Given the description of an element on the screen output the (x, y) to click on. 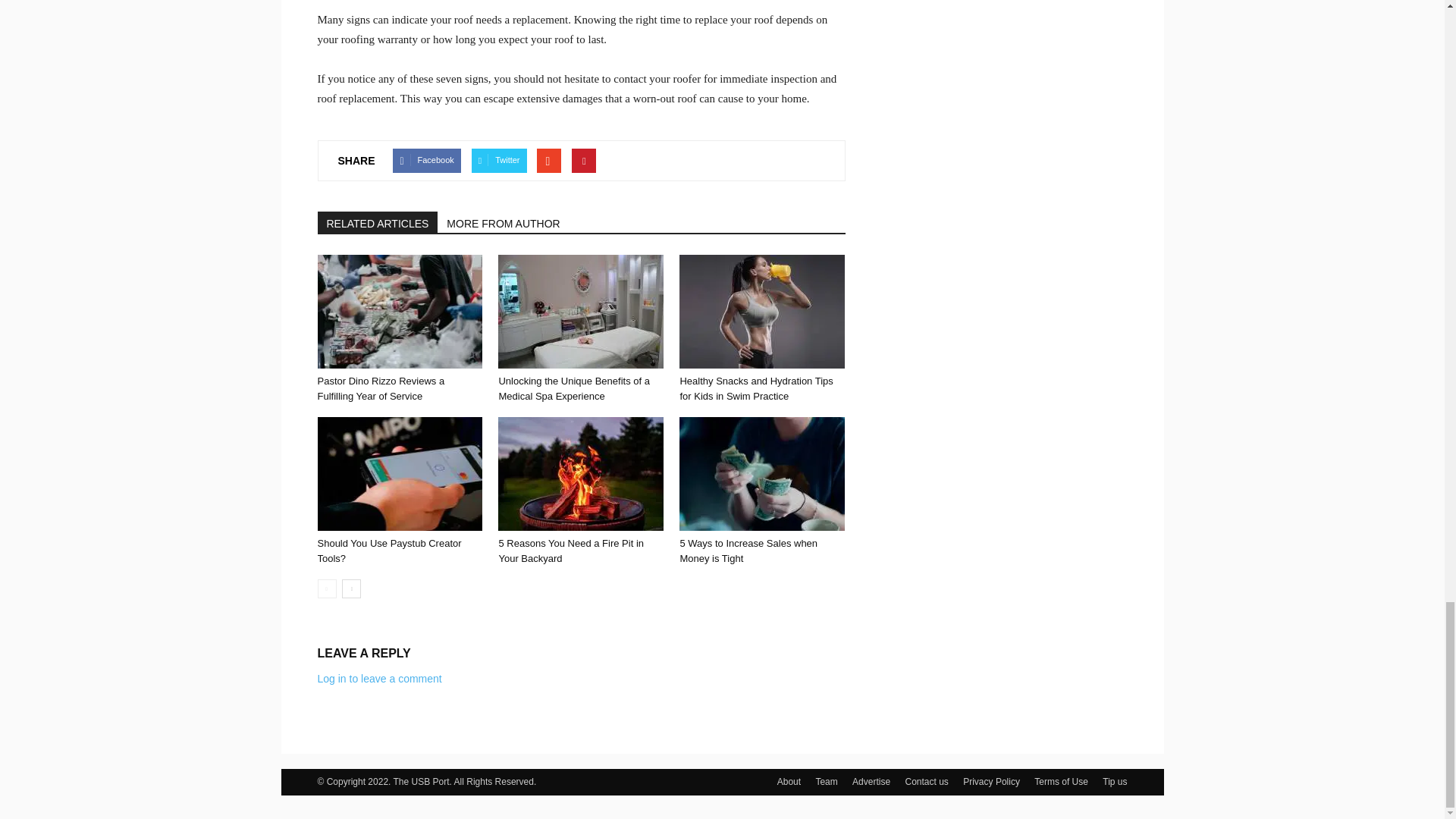
Pastor Dino Rizzo Reviews a Fulfilling Year of Service (380, 388)
Pastor Dino Rizzo Reviews a Fulfilling Year of Service (399, 311)
Unlocking the Unique Benefits of a Medical Spa Experience (580, 311)
